Given the description of an element on the screen output the (x, y) to click on. 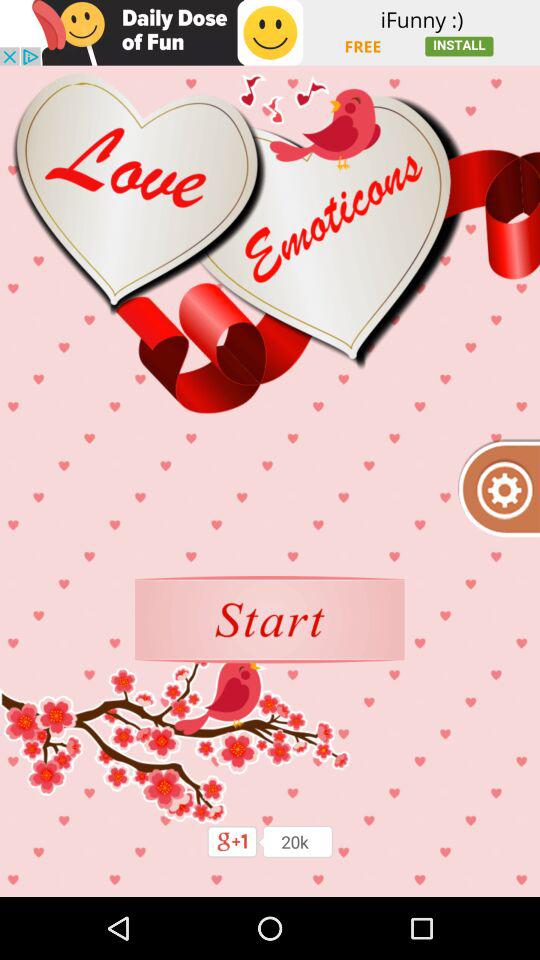
button to play next option (269, 619)
